Given the description of an element on the screen output the (x, y) to click on. 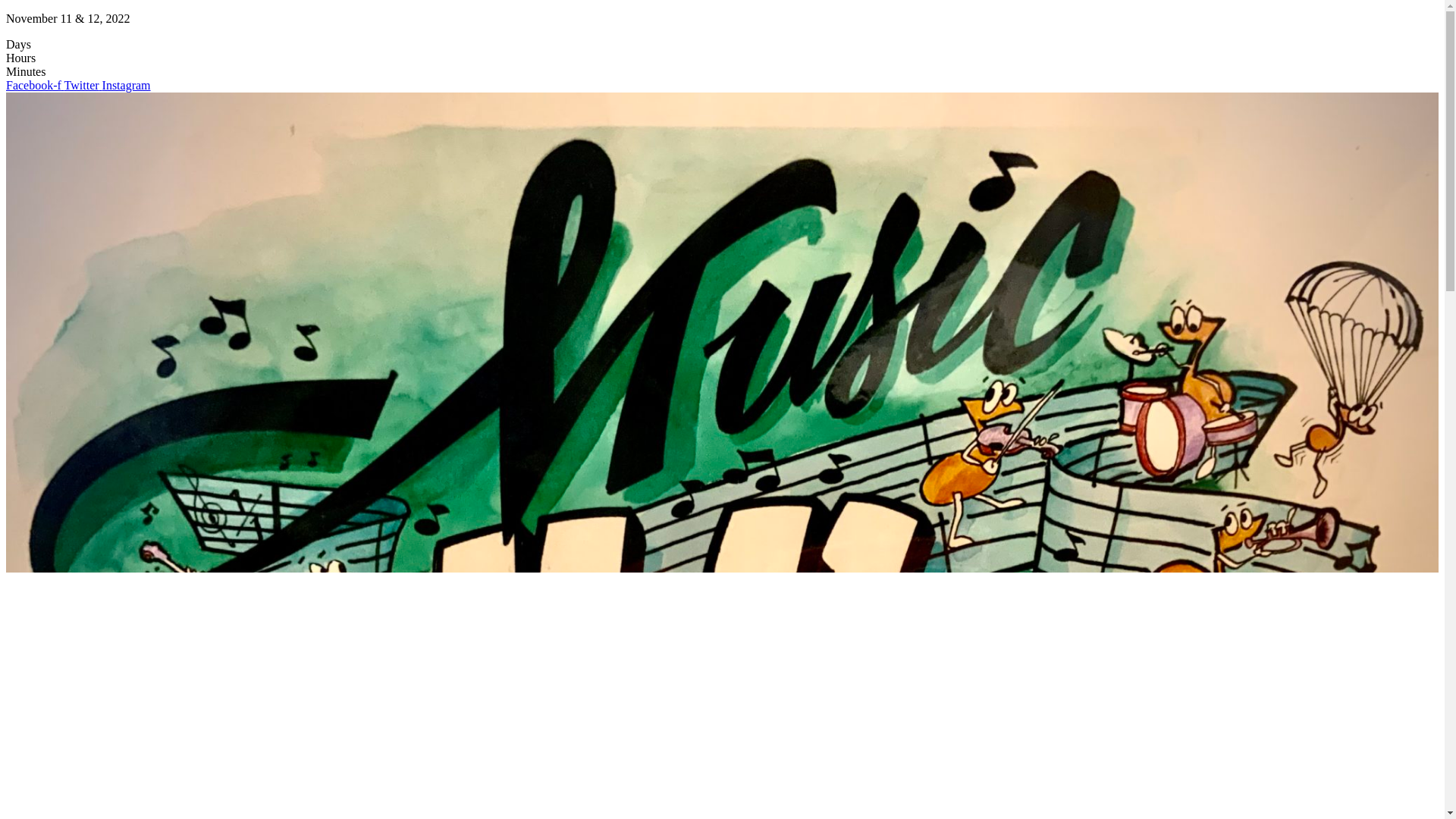
Facebook-f Element type: text (35, 84)
Twitter Element type: text (83, 84)
Instagram Element type: text (126, 84)
